Given the description of an element on the screen output the (x, y) to click on. 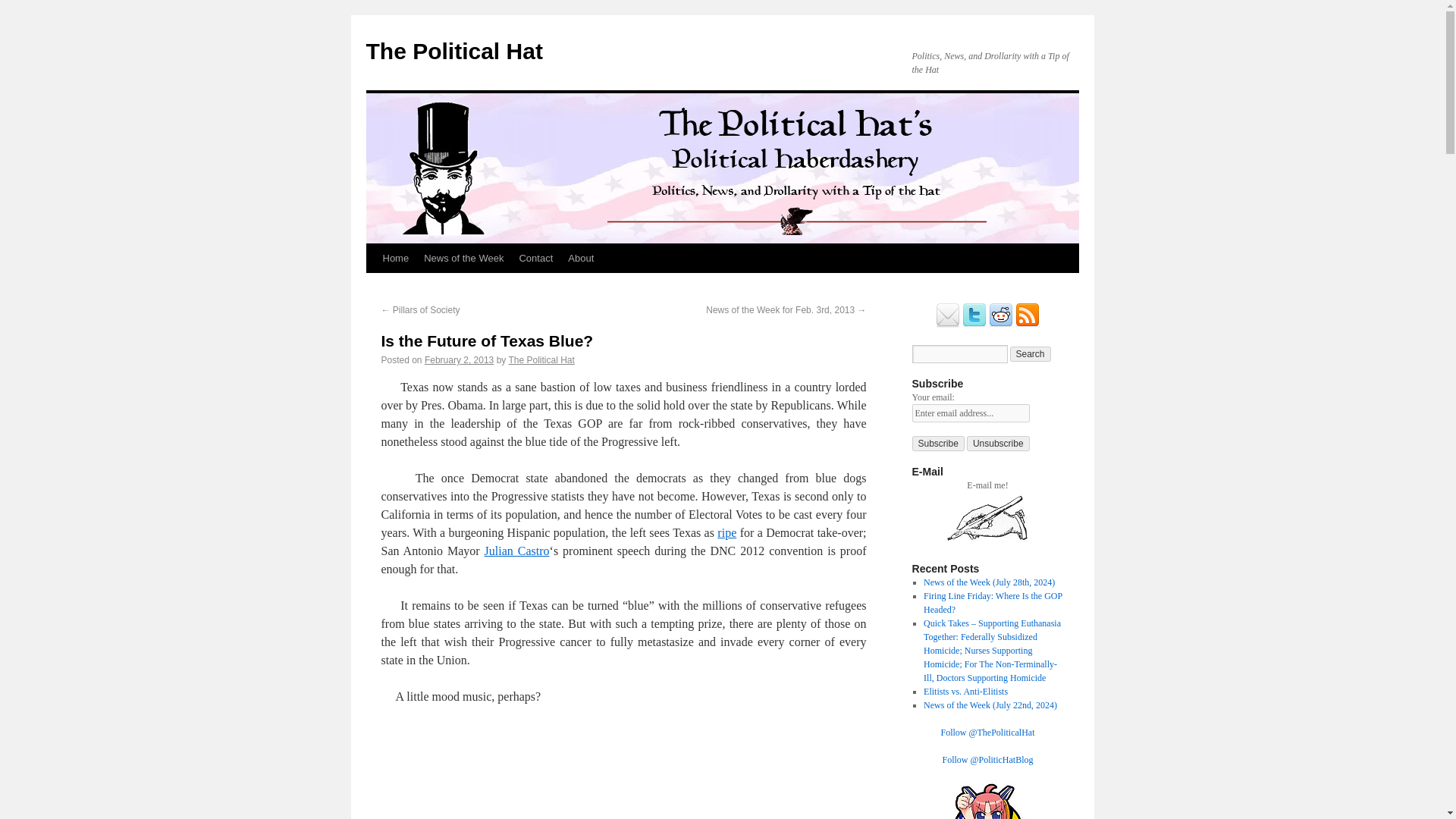
RSS (1026, 324)
The Political Hat (453, 50)
Search (1030, 353)
Unsubscribe (997, 443)
E-Mail Me (987, 541)
Blog Twitter Feed (974, 324)
Contact (535, 258)
Home (395, 258)
Reddit (1000, 324)
The Political Hat (453, 50)
Subscribe (937, 443)
February 2, 2013 (459, 359)
Unsubscribe (997, 443)
Enter email address... (970, 413)
About (580, 258)
